Given the description of an element on the screen output the (x, y) to click on. 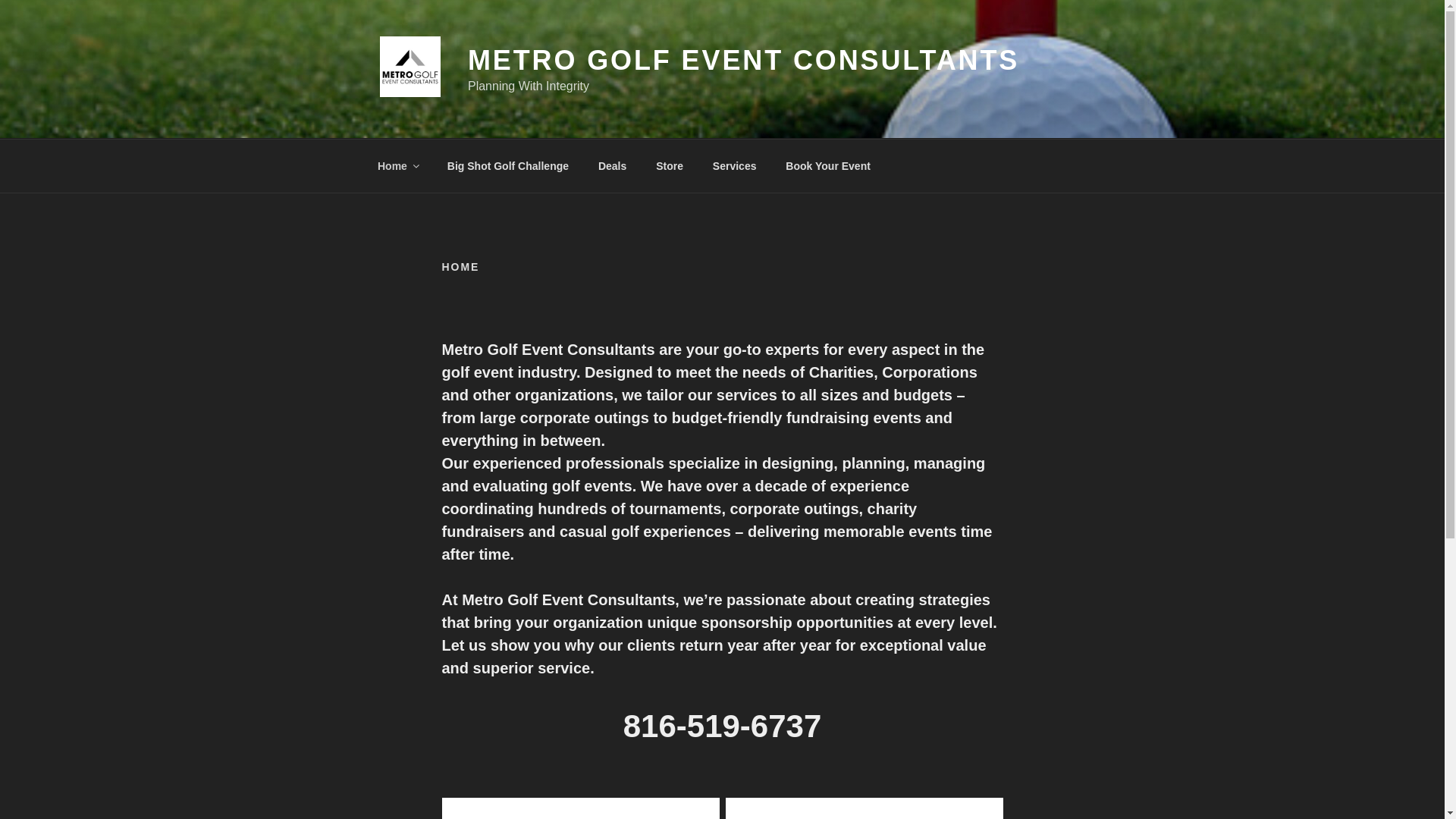
Deals (612, 165)
Big Shot Golf Challenge (506, 165)
Store (670, 165)
METRO GOLF EVENT CONSULTANTS (743, 60)
Services (734, 165)
Home (397, 165)
Book Your Event (828, 165)
